Given the description of an element on the screen output the (x, y) to click on. 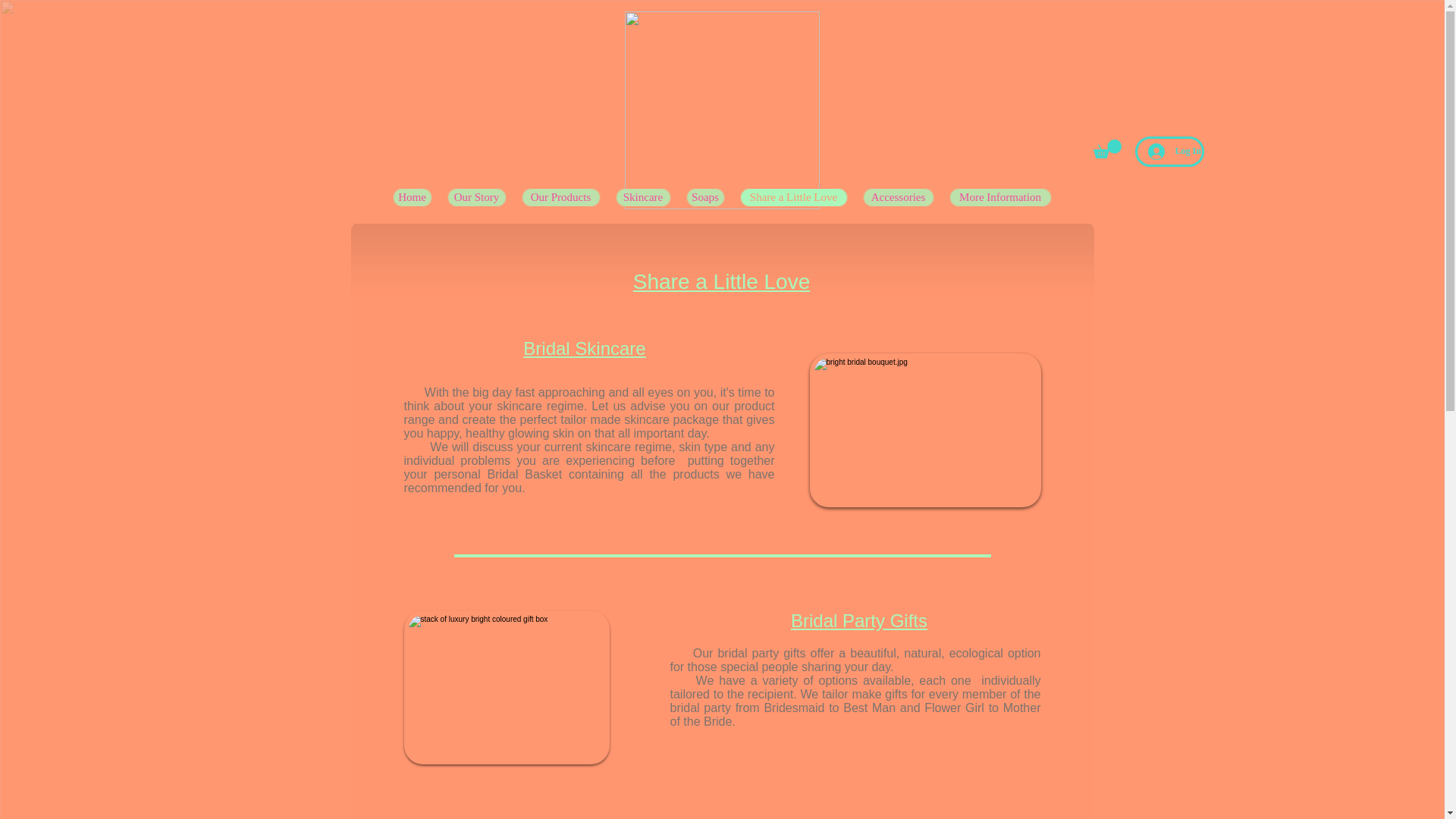
Home (412, 197)
Accessories (898, 197)
Our Story (476, 197)
Log In (1169, 151)
Share a Little Love (793, 197)
Our Products (560, 197)
